Given the description of an element on the screen output the (x, y) to click on. 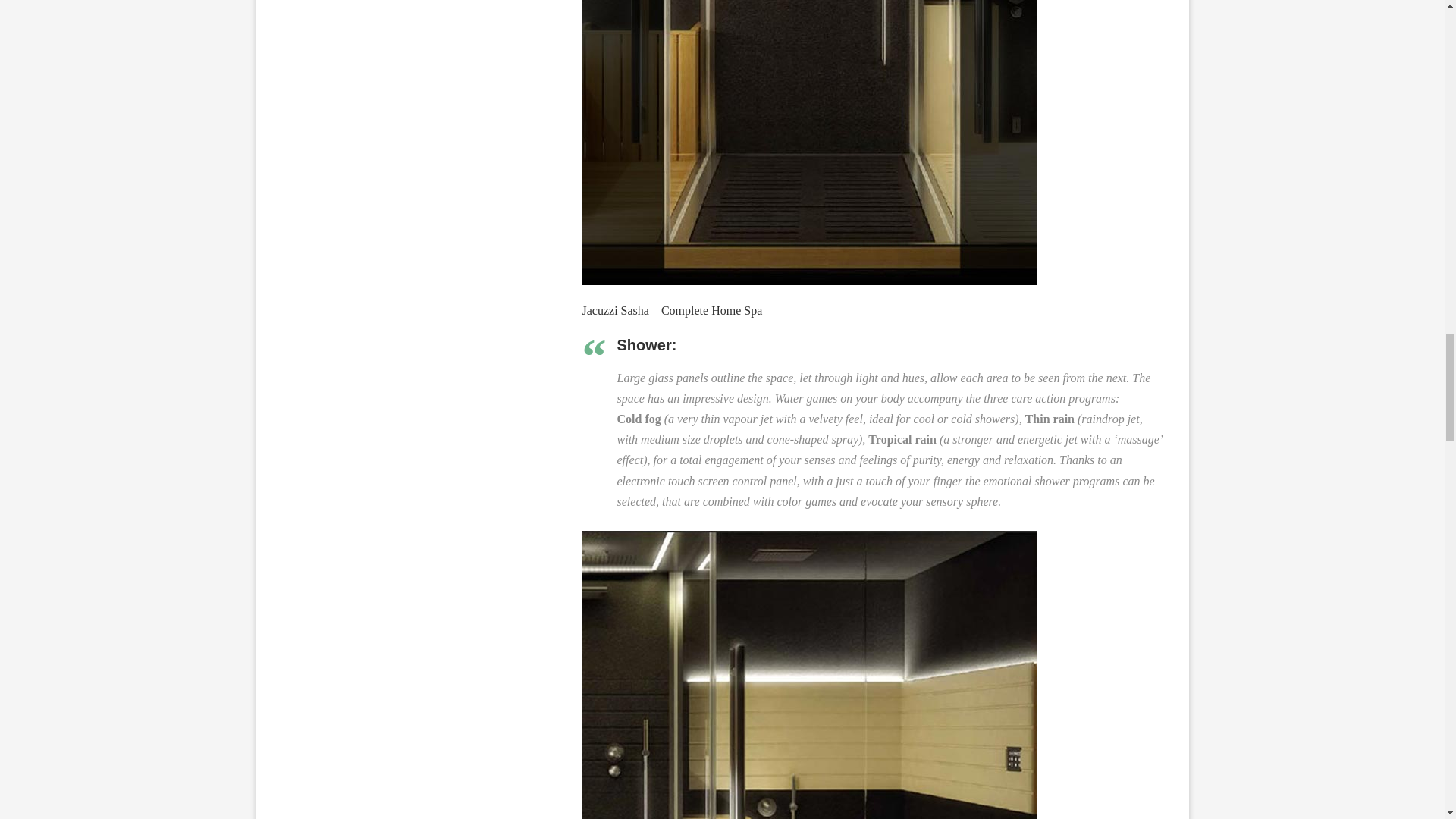
Jacuzzi Sasha - Complete Home Spa (817, 536)
Jacuzzi Sasha - Complete Home Spa (809, 142)
Jacuzzi Sasha - Complete Home Spa (809, 674)
